Given the description of an element on the screen output the (x, y) to click on. 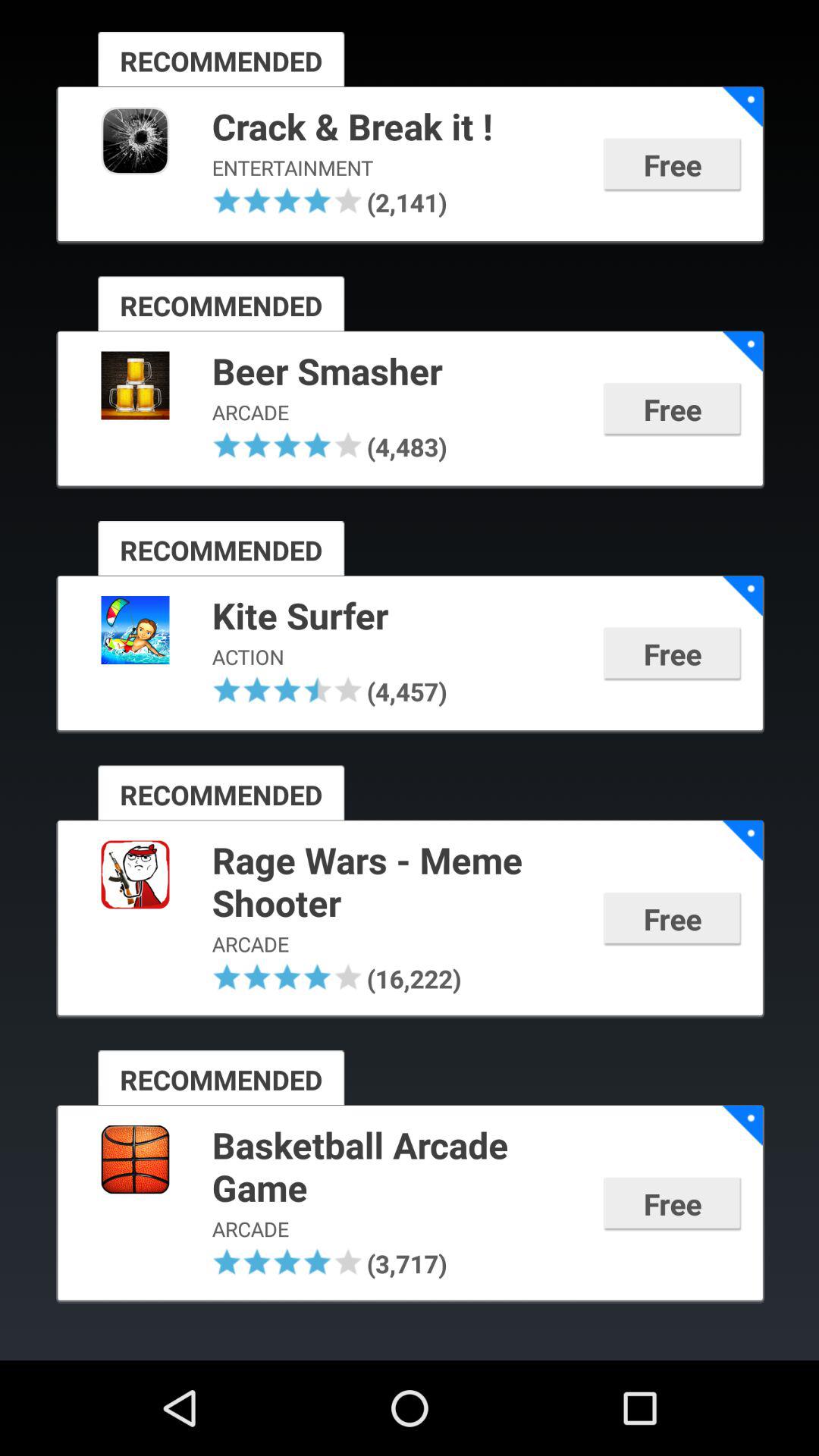
turn off the app above arcade app (397, 372)
